Given the description of an element on the screen output the (x, y) to click on. 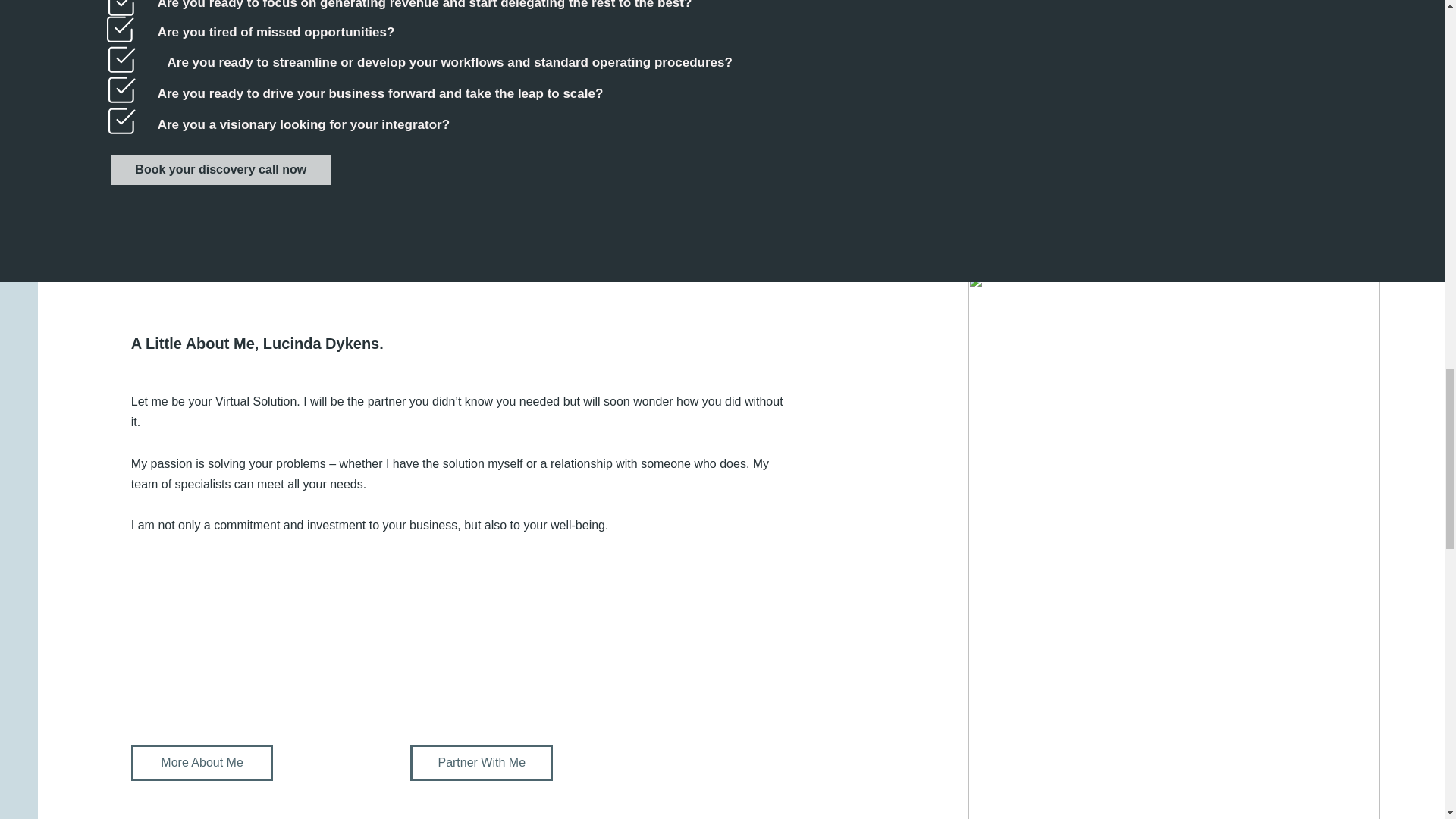
More About Me (202, 762)
Book your discovery call now (220, 169)
Partner With Me (481, 762)
